Given the description of an element on the screen output the (x, y) to click on. 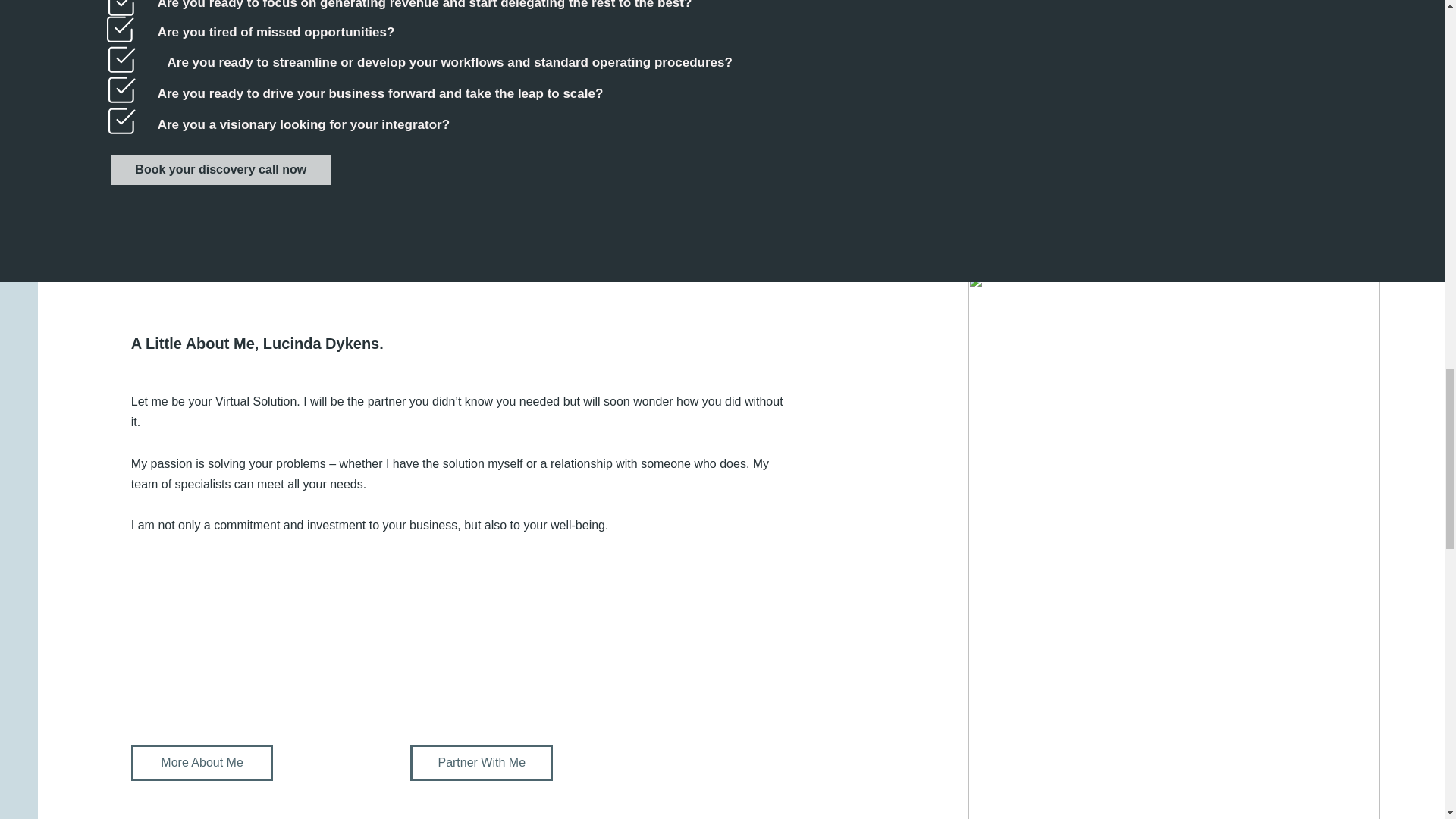
More About Me (202, 762)
Book your discovery call now (220, 169)
Partner With Me (481, 762)
